Given the description of an element on the screen output the (x, y) to click on. 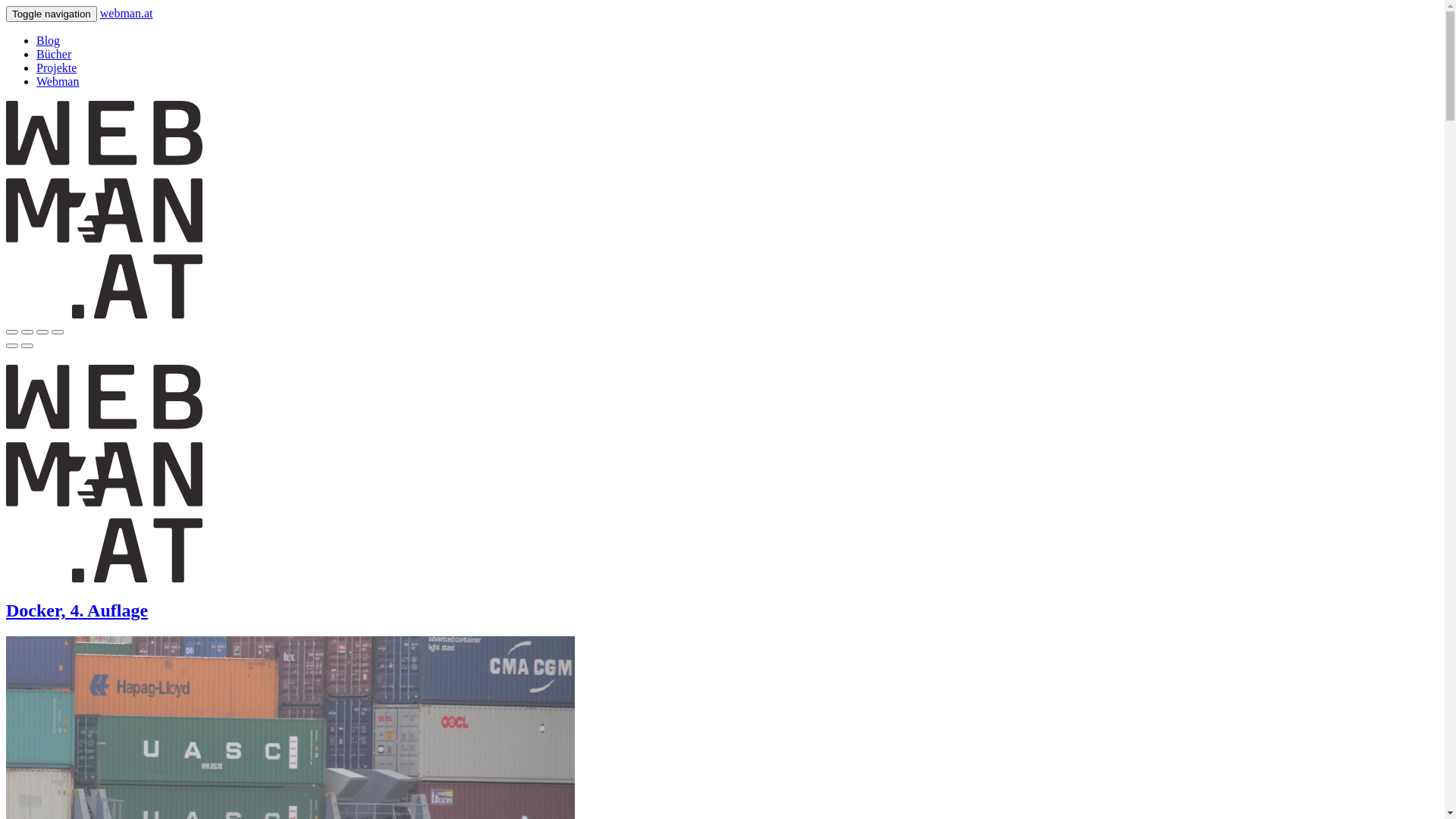
webman.at Element type: hover (104, 313)
Close (Esc) Element type: hover (12, 331)
webman.at Element type: text (126, 12)
Share Element type: hover (27, 331)
Previous (arrow left) Element type: hover (12, 345)
Next (arrow right) Element type: hover (27, 345)
Toggle fullscreen Element type: hover (42, 331)
Zoom in/out Element type: hover (57, 331)
Toggle navigation Element type: text (51, 13)
Webman Element type: text (57, 81)
Blog Element type: text (47, 40)
Projekte Element type: text (56, 67)
